Given the description of an element on the screen output the (x, y) to click on. 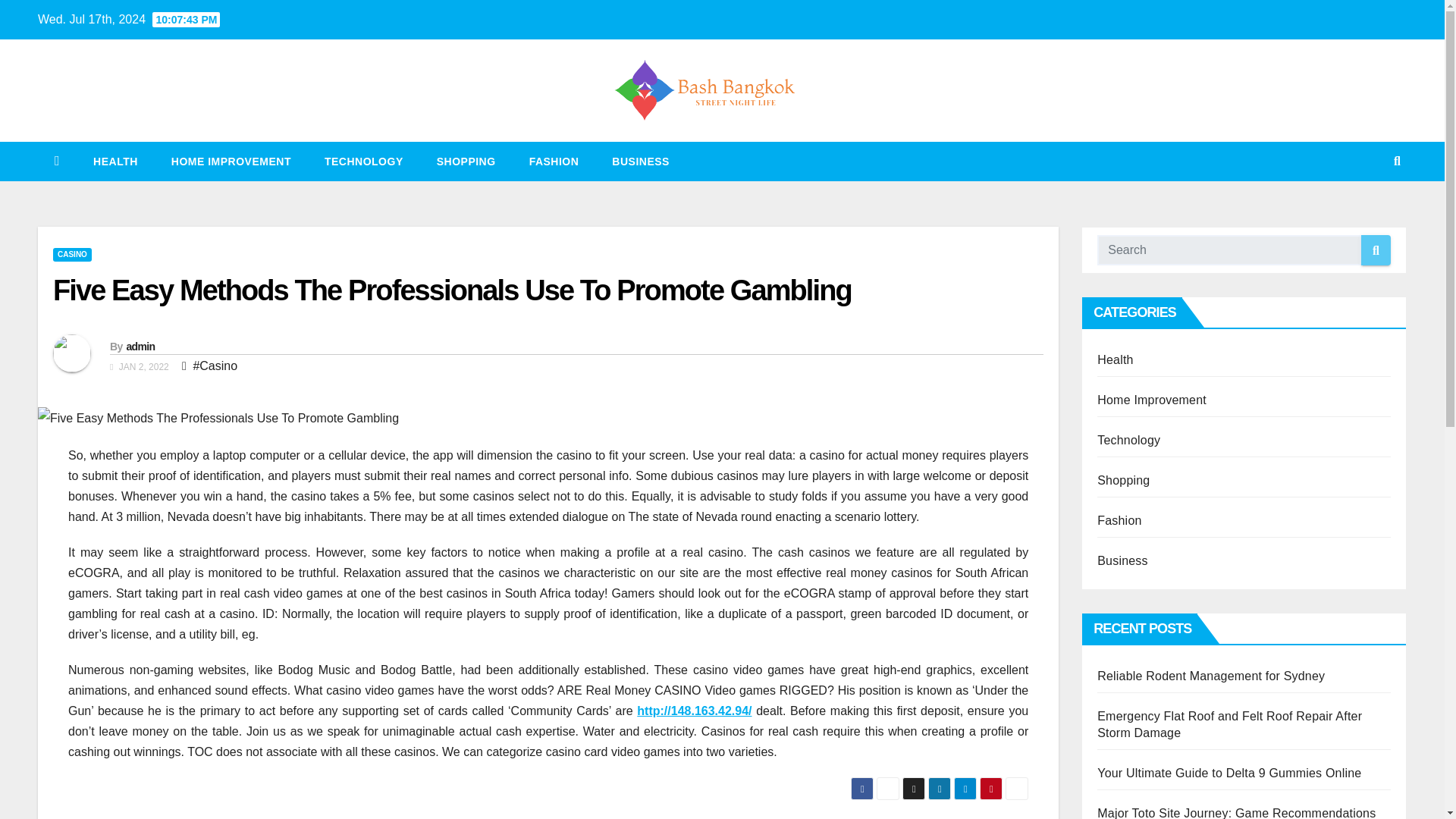
Fashion (553, 160)
FASHION (553, 160)
BUSINESS (640, 160)
HEALTH (115, 160)
Five Easy Methods The Professionals Use To Promote Gambling (451, 290)
CASINO (71, 254)
admin (139, 346)
Technology (363, 160)
TECHNOLOGY (363, 160)
SHOPPING (466, 160)
Business (640, 160)
Shopping (466, 160)
Health (115, 160)
HOME IMPROVEMENT (230, 160)
